Given the description of an element on the screen output the (x, y) to click on. 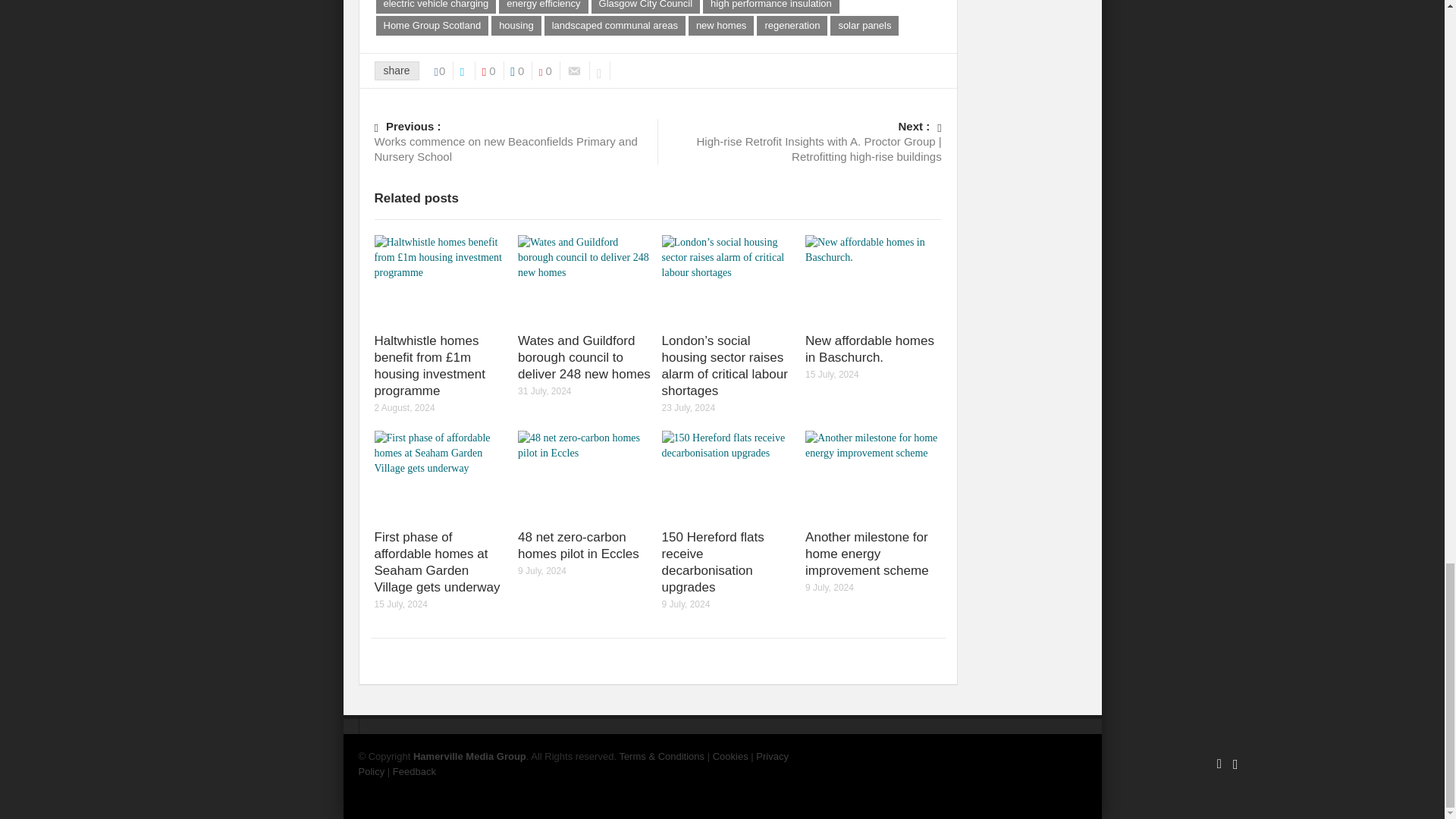
new homes (721, 25)
regeneration (792, 25)
energy efficiency (543, 6)
landscaped communal areas (614, 25)
solar panels (863, 25)
housing (516, 25)
electric vehicle charging (435, 6)
Home Group Scotland (432, 25)
Glasgow City Council (645, 6)
high performance insulation (771, 6)
